Given the description of an element on the screen output the (x, y) to click on. 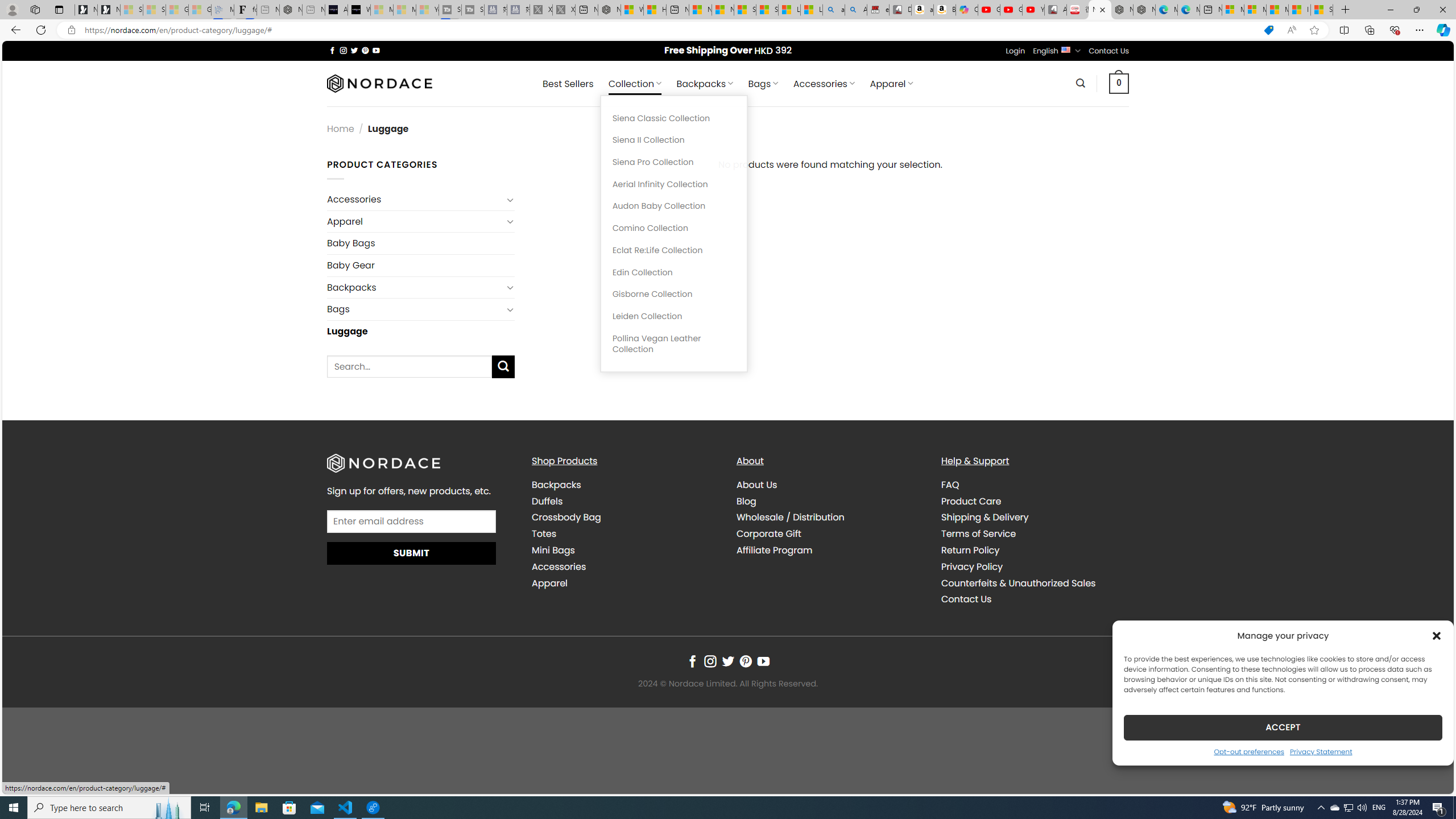
Contact Us (1034, 599)
Mini Bags (553, 550)
View site information (70, 29)
Go to top (1430, 777)
Backpacks (625, 484)
FAQ (1034, 484)
Leiden Collection (672, 316)
Amazon Echo Dot PNG - Search Images (856, 9)
Restore (1416, 9)
About Us (830, 484)
AutomationID: field_4_1 (411, 522)
